Given the description of an element on the screen output the (x, y) to click on. 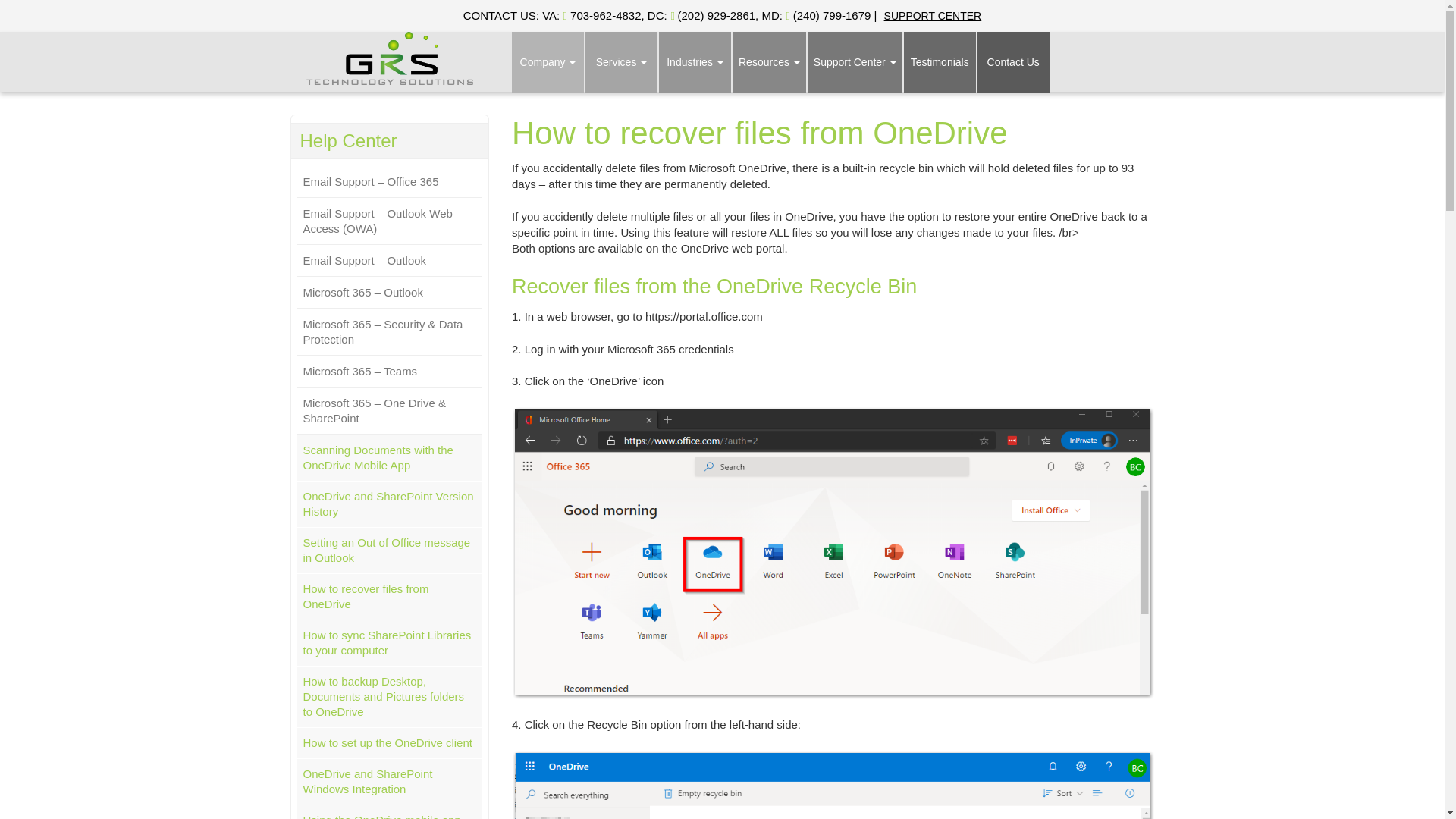
Contact GRS Technology Solutions (1012, 61)
Services (621, 61)
Clients Testimonials (939, 61)
SUPPORT CENTER (932, 15)
Industries (694, 61)
Company (547, 61)
Resources (769, 61)
Support Center (855, 61)
